Given the description of an element on the screen output the (x, y) to click on. 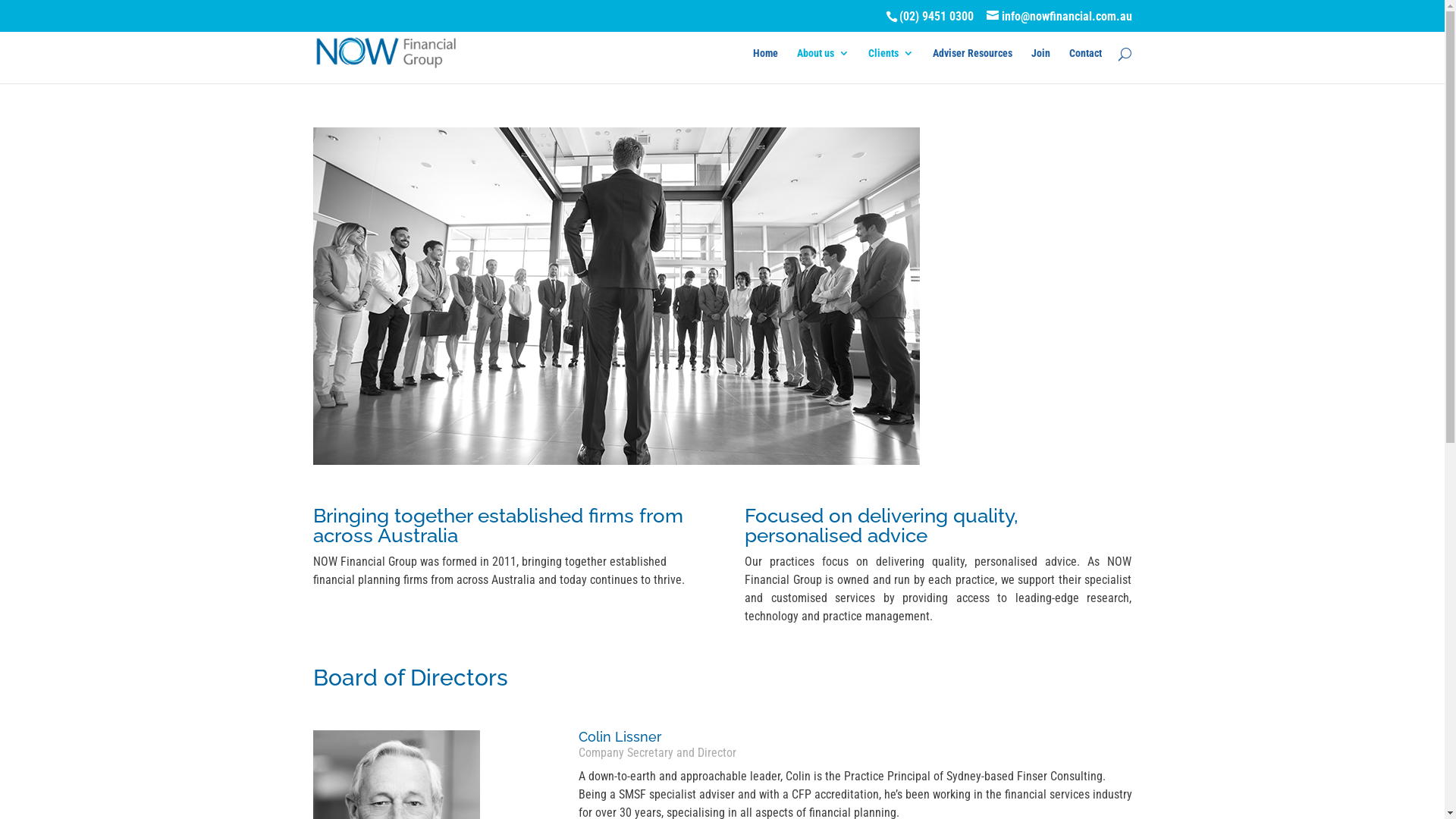
Join Element type: text (1040, 65)
Contact Element type: text (1085, 65)
Clients Element type: text (890, 65)
Adviser Resources Element type: text (972, 65)
Home Element type: text (764, 65)
info@nowfinancial.com.au Element type: text (1058, 16)
About us Element type: text (822, 65)
